Given the description of an element on the screen output the (x, y) to click on. 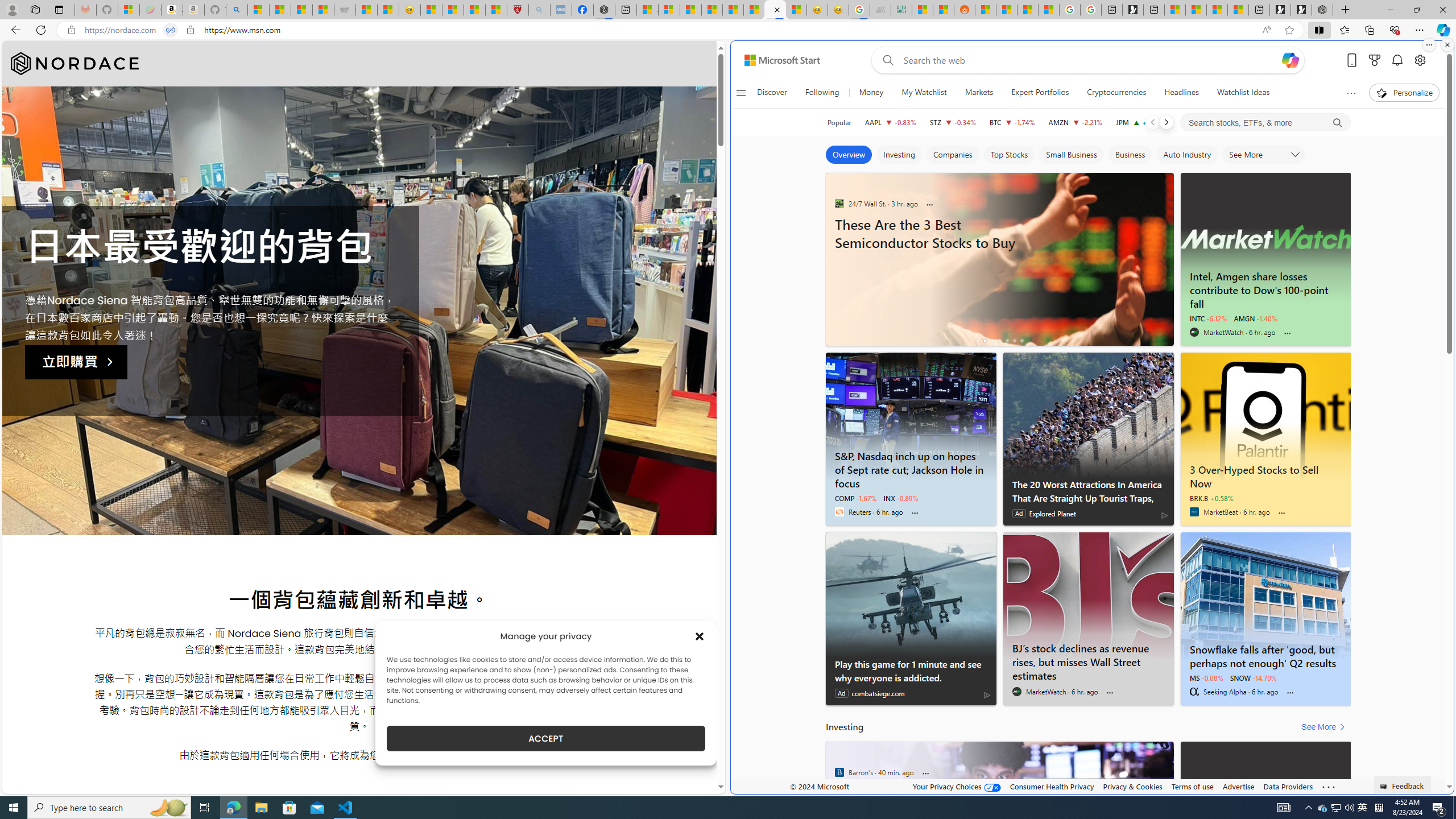
Money (871, 92)
AMGN -1.40% (1254, 317)
Companies (952, 154)
Auto Industry (1187, 154)
My Watchlist (923, 92)
Show more topics (1349, 92)
MS -0.08% (1206, 677)
AAPL APPLE INC. decrease 224.53 -1.87 -0.83% (890, 122)
INX -0.89% (900, 497)
STZ CONSTELLATION BRANDS, INC. decrease 243.92 -0.82 -0.34% (952, 122)
